Given the description of an element on the screen output the (x, y) to click on. 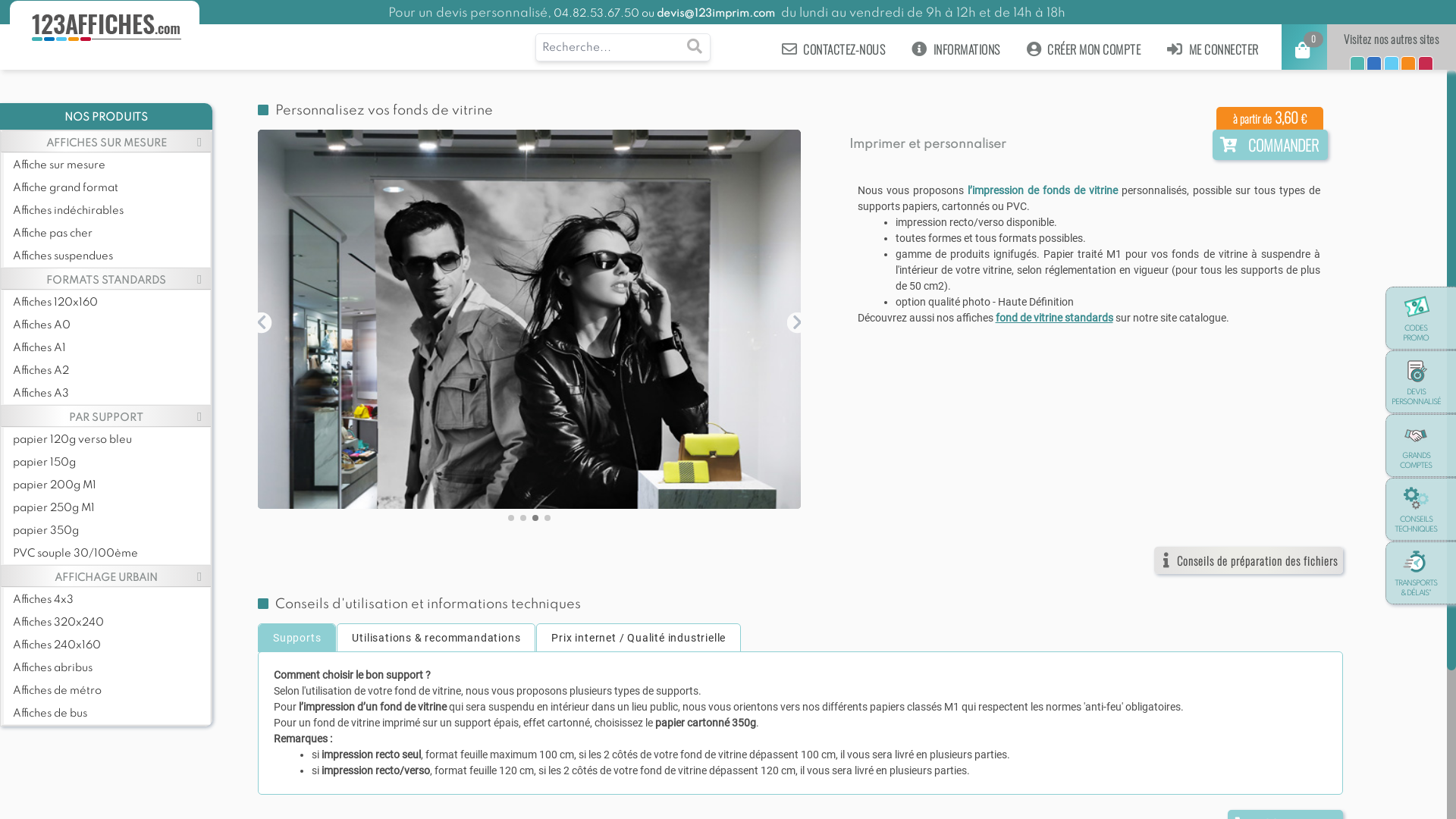
AFFICHAGE URBAIN Element type: text (105, 575)
INFORMATIONS Element type: text (955, 49)
Affiches A3 Element type: text (111, 392)
0 Element type: text (1304, 52)
INFORMATIONS Element type: text (964, 51)
Affiche sur mesure Element type: text (111, 164)
Affiche grand format Element type: text (111, 187)
PAR SUPPORT Element type: text (105, 415)
AFFICHES SUR MESURE Element type: text (105, 140)
Affiches 120x160 Element type: text (111, 301)
CONTACTEZ-NOUS Element type: text (833, 49)
ME CONNECTER Element type: text (1212, 49)
Supports Element type: text (296, 638)
papier 200g M1 Element type: text (111, 484)
Affiches suspendues Element type: text (111, 255)
papier 150g Element type: text (111, 462)
CONTACTEZ-NOUS Element type: text (843, 51)
Affiches A2 Element type: text (111, 369)
devis@123imprim.com Element type: text (715, 13)
papier 120g verso bleu Element type: text (111, 439)
Affiches 320x240 Element type: text (111, 621)
COMMANDER Element type: text (1269, 144)
fond de vitrine standards Element type: text (1053, 317)
COMMANDER Element type: text (1269, 147)
papier 350g Element type: text (111, 530)
FORMATS STANDARDS Element type: text (105, 278)
Utilisations & recommandations Element type: text (435, 638)
papier 250g M1 Element type: text (111, 507)
Affiches 240x160 Element type: text (111, 644)
Affiches abribus Element type: text (111, 666)
Affiches A0 Element type: text (111, 324)
Affiches A1 Element type: text (111, 346)
Affiche pas cher Element type: text (111, 233)
fond de vitrine Element type: hover (528, 318)
Affiches 4x3 Element type: text (111, 598)
Affiches de bus Element type: text (111, 712)
ME CONNECTER Element type: text (1222, 51)
